Given the description of an element on the screen output the (x, y) to click on. 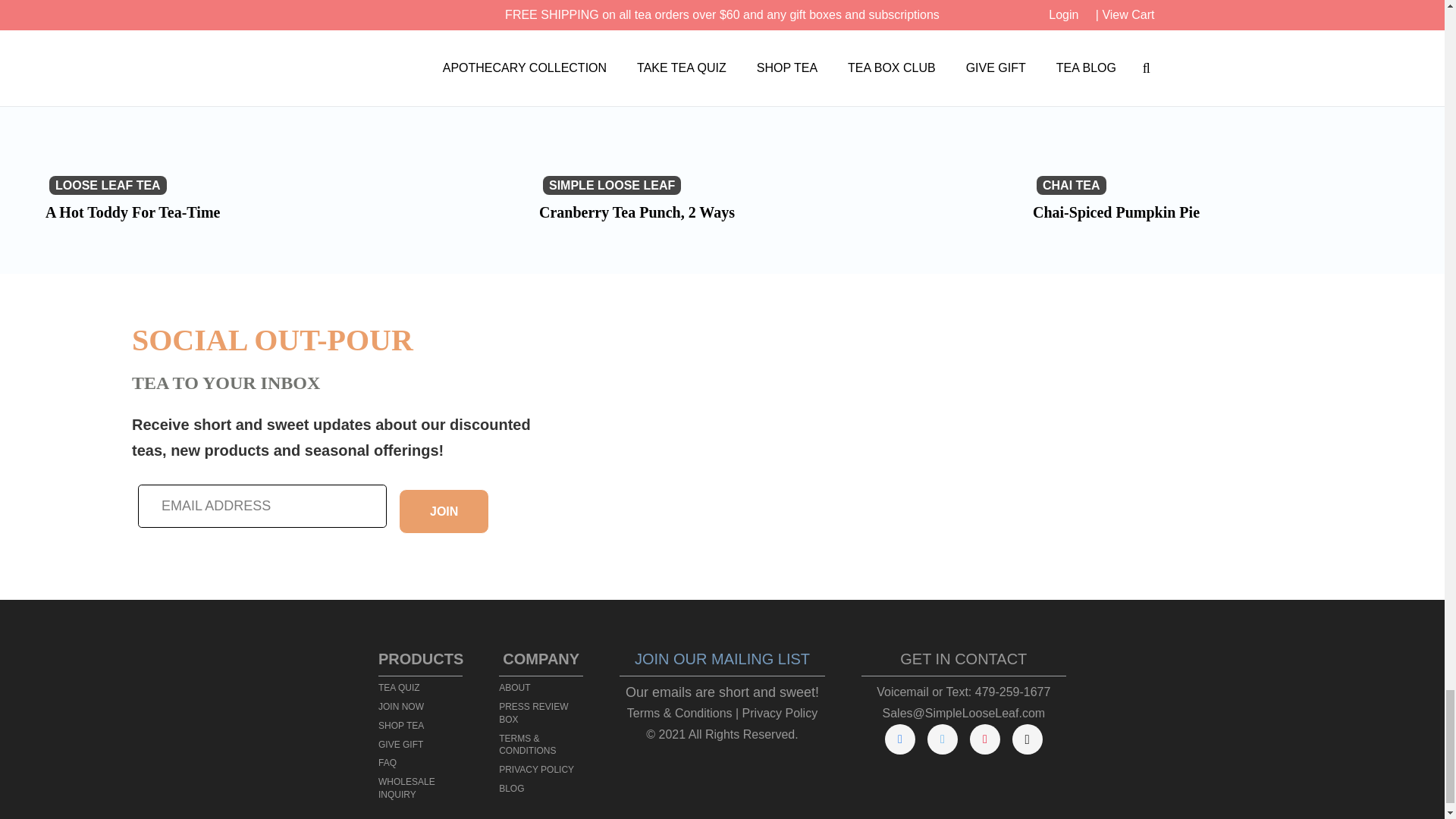
Join (443, 511)
Twitter (942, 738)
Facebook (900, 738)
Pinterest (984, 738)
Instagram (1026, 738)
